Given the description of an element on the screen output the (x, y) to click on. 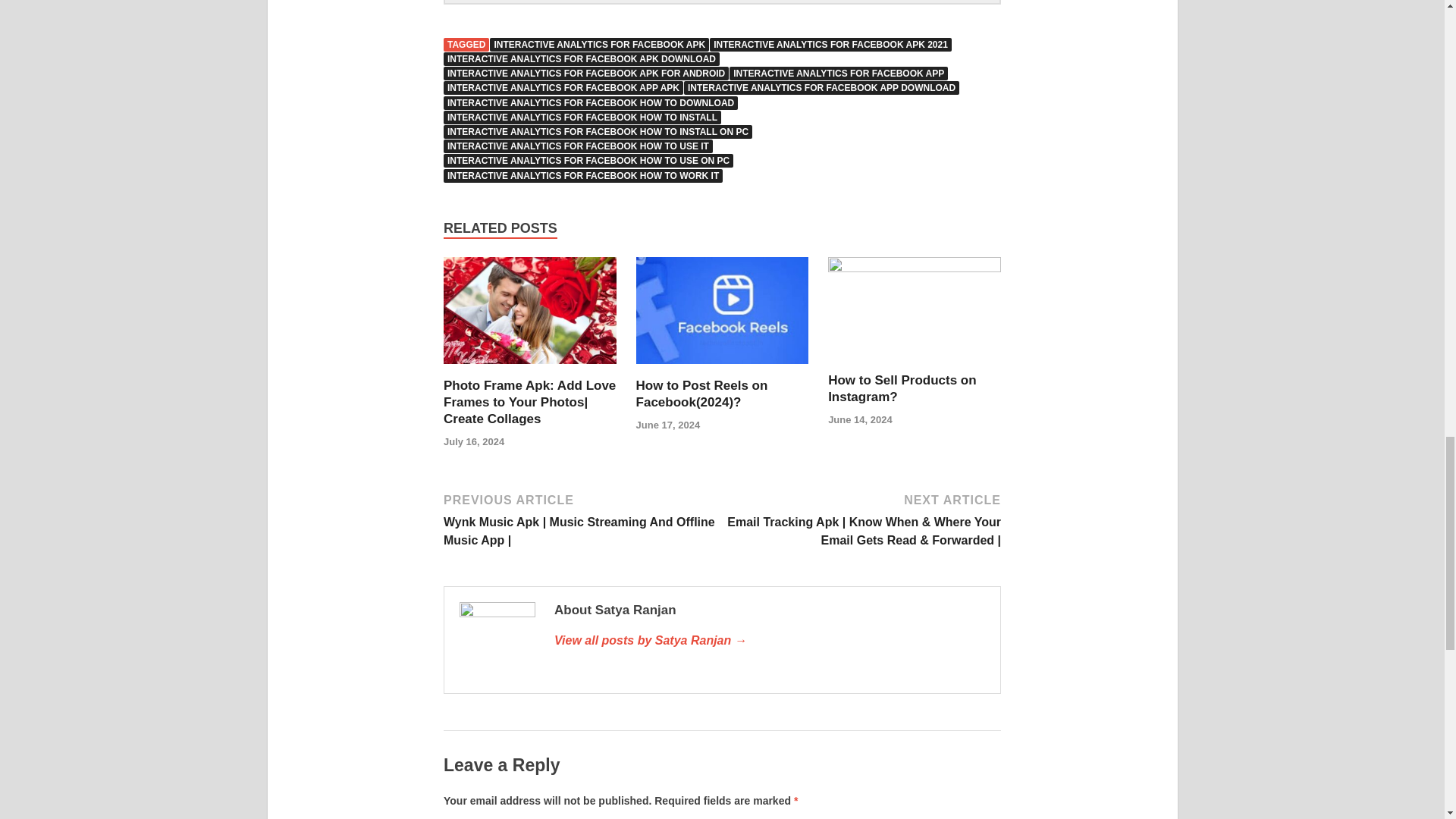
INTERACTIVE ANALYTICS FOR FACEBOOK APK (599, 44)
INTERACTIVE ANALYTICS FOR FACEBOOK APK 2021 (831, 44)
INTERACTIVE ANALYTICS FOR FACEBOOK APK DOWNLOAD (581, 59)
How to Sell Products on Instagram? (914, 267)
INTERACTIVE ANALYTICS FOR FACEBOOK APK FOR ANDROID (586, 73)
INTERACTIVE ANALYTICS FOR FACEBOOK HOW TO INSTALL ON PC (598, 131)
Satya Ranjan (769, 640)
INTERACTIVE ANALYTICS FOR FACEBOOK APP DOWNLOAD (821, 88)
How to Sell Products on Instagram? (902, 388)
INTERACTIVE ANALYTICS FOR FACEBOOK HOW TO USE IT (578, 146)
